Given the description of an element on the screen output the (x, y) to click on. 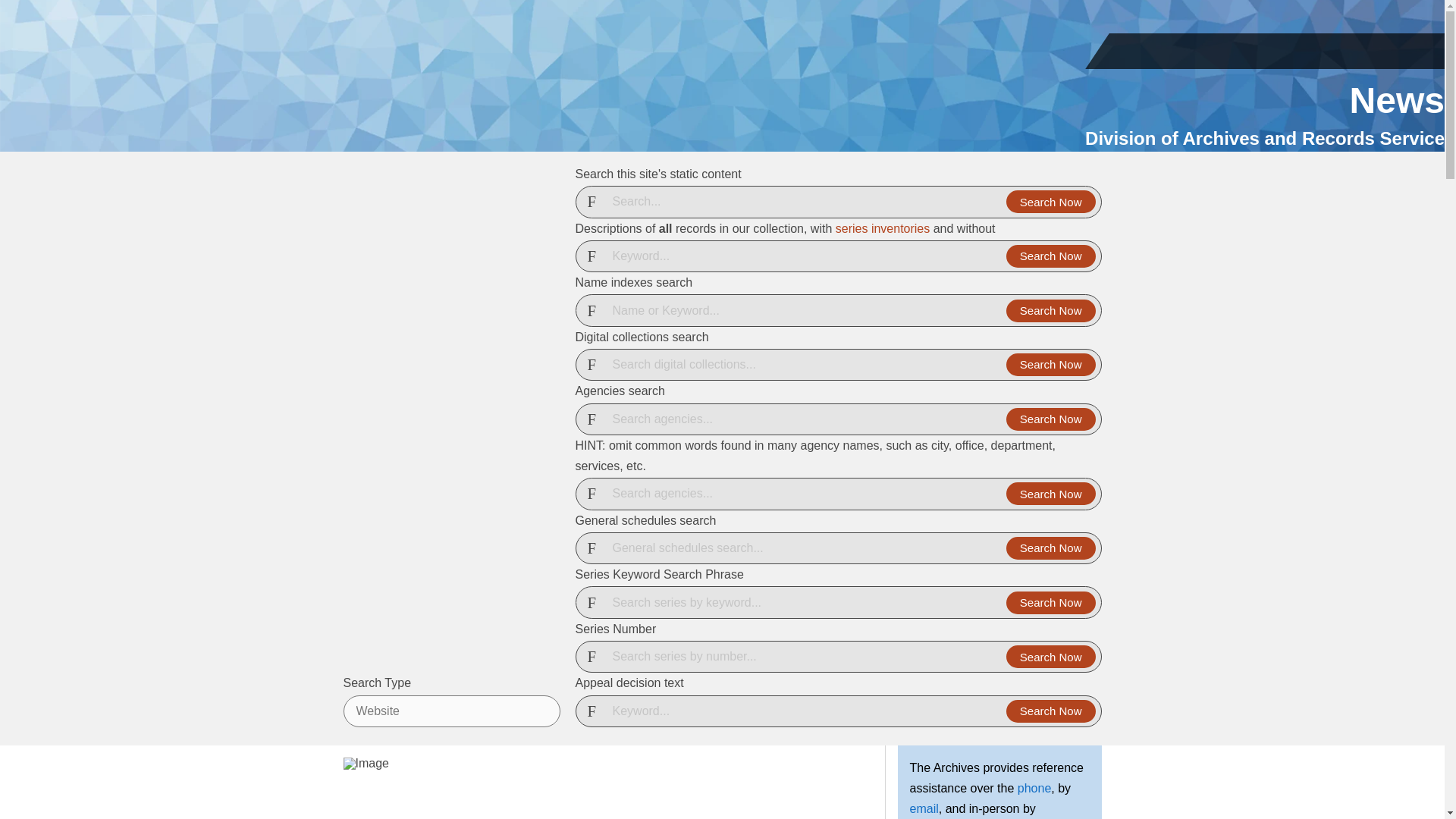
Search Now (1051, 363)
Search Now (1051, 602)
phone (1034, 788)
Search Now (1051, 418)
Search Now (1051, 656)
email (924, 808)
Search Now (1051, 310)
Search Now (1051, 201)
Search Now (1051, 493)
series inventories (882, 228)
